Given the description of an element on the screen output the (x, y) to click on. 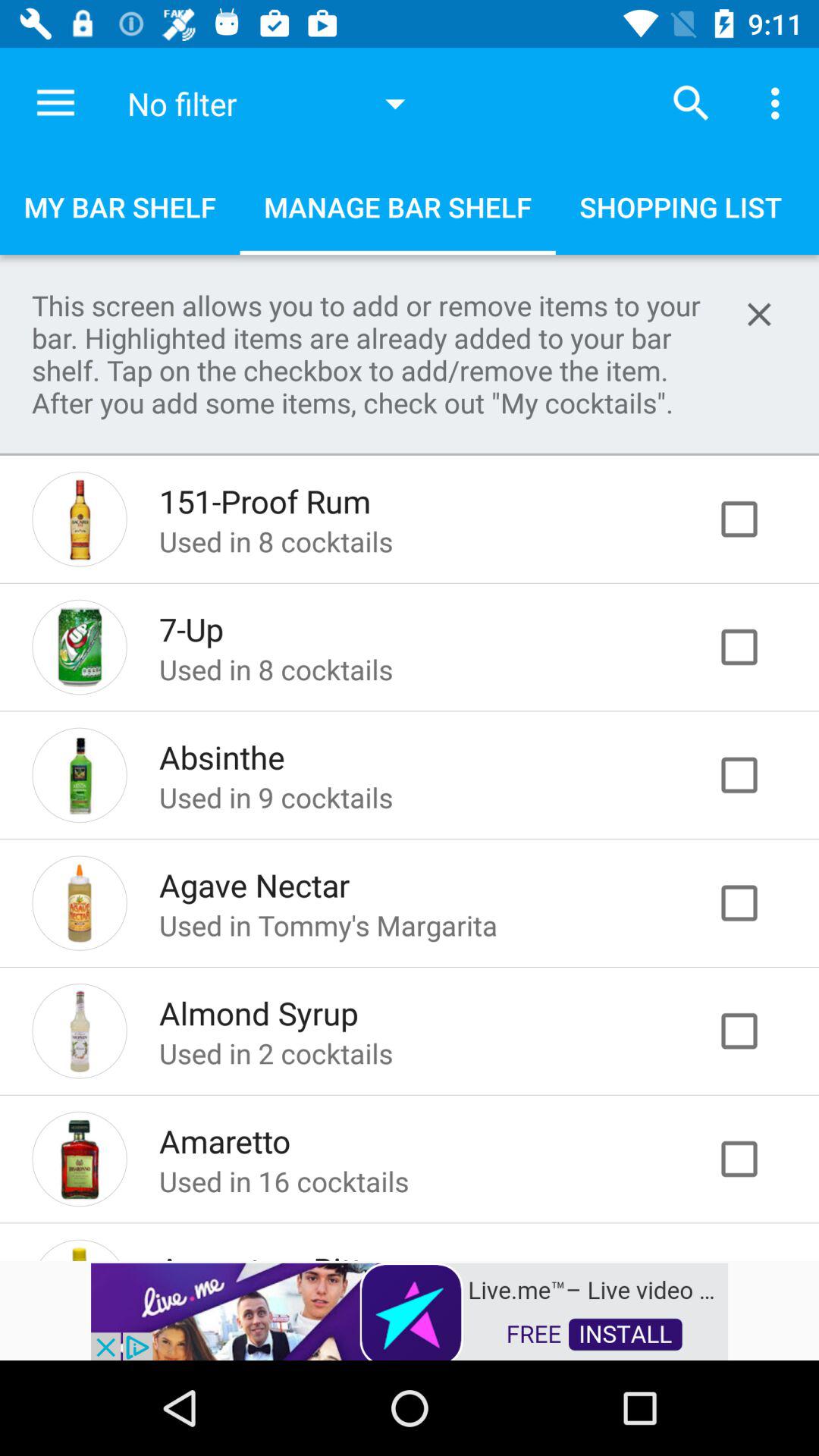
check box to select almond syrup (755, 1030)
